Given the description of an element on the screen output the (x, y) to click on. 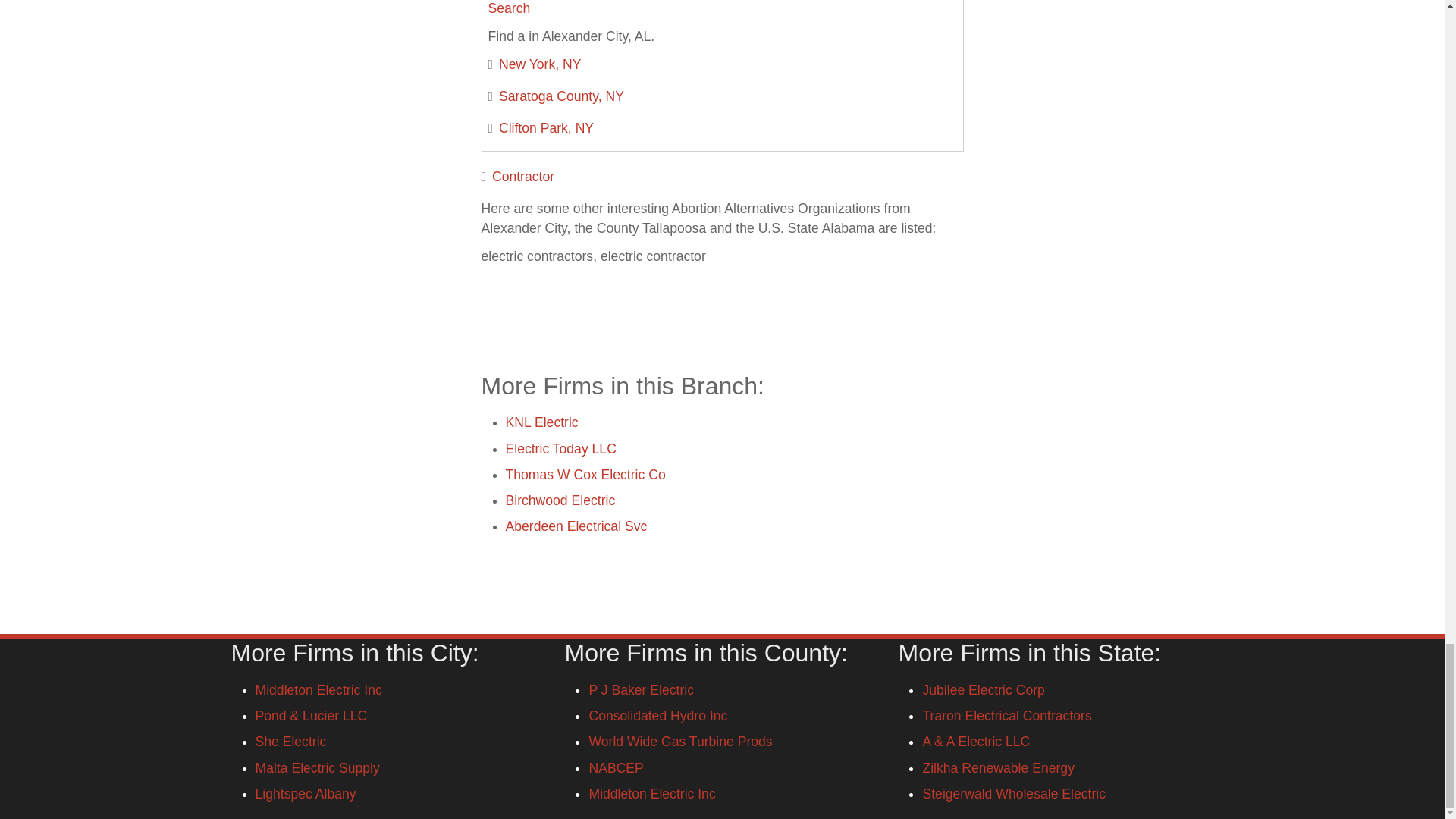
Birchwood Electric (559, 500)
Saratoga County, NY (561, 96)
Clifton Park, NY (546, 127)
Contractor (523, 176)
KNL Electric (541, 421)
Aberdeen Electrical Svc (575, 525)
Search (509, 7)
New York, NY (539, 64)
Electric Today LLC (560, 448)
Thomas W Cox Electric Co (585, 474)
